Given the description of an element on the screen output the (x, y) to click on. 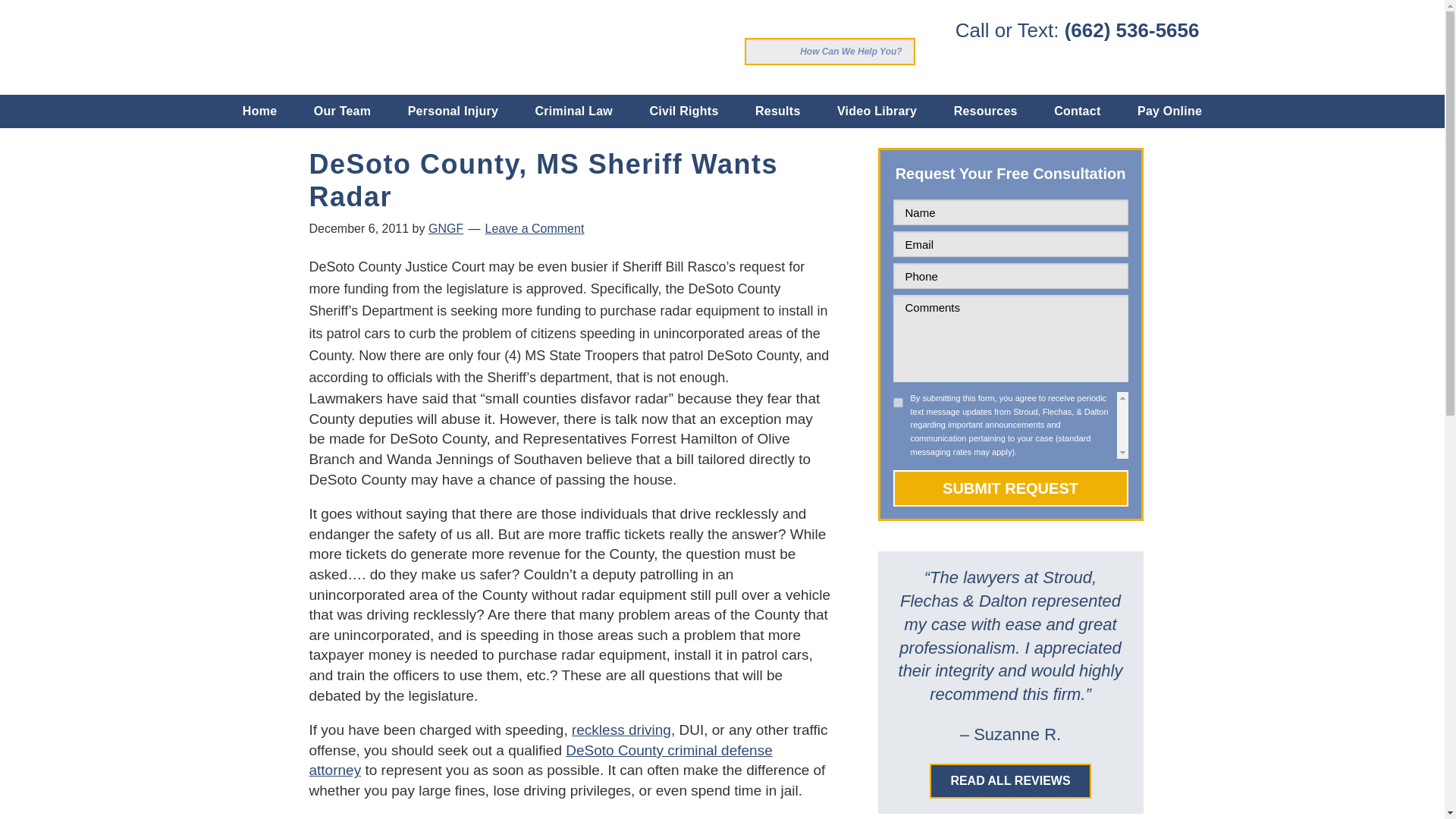
Reckless Driving (621, 729)
SUBMIT REQUEST (1010, 488)
Our Team (342, 111)
Search (757, 51)
Home (259, 111)
Personal Injury (453, 111)
Civil Rights (684, 111)
Criminal Law (540, 760)
Search (757, 51)
Criminal Law (573, 111)
